Given the description of an element on the screen output the (x, y) to click on. 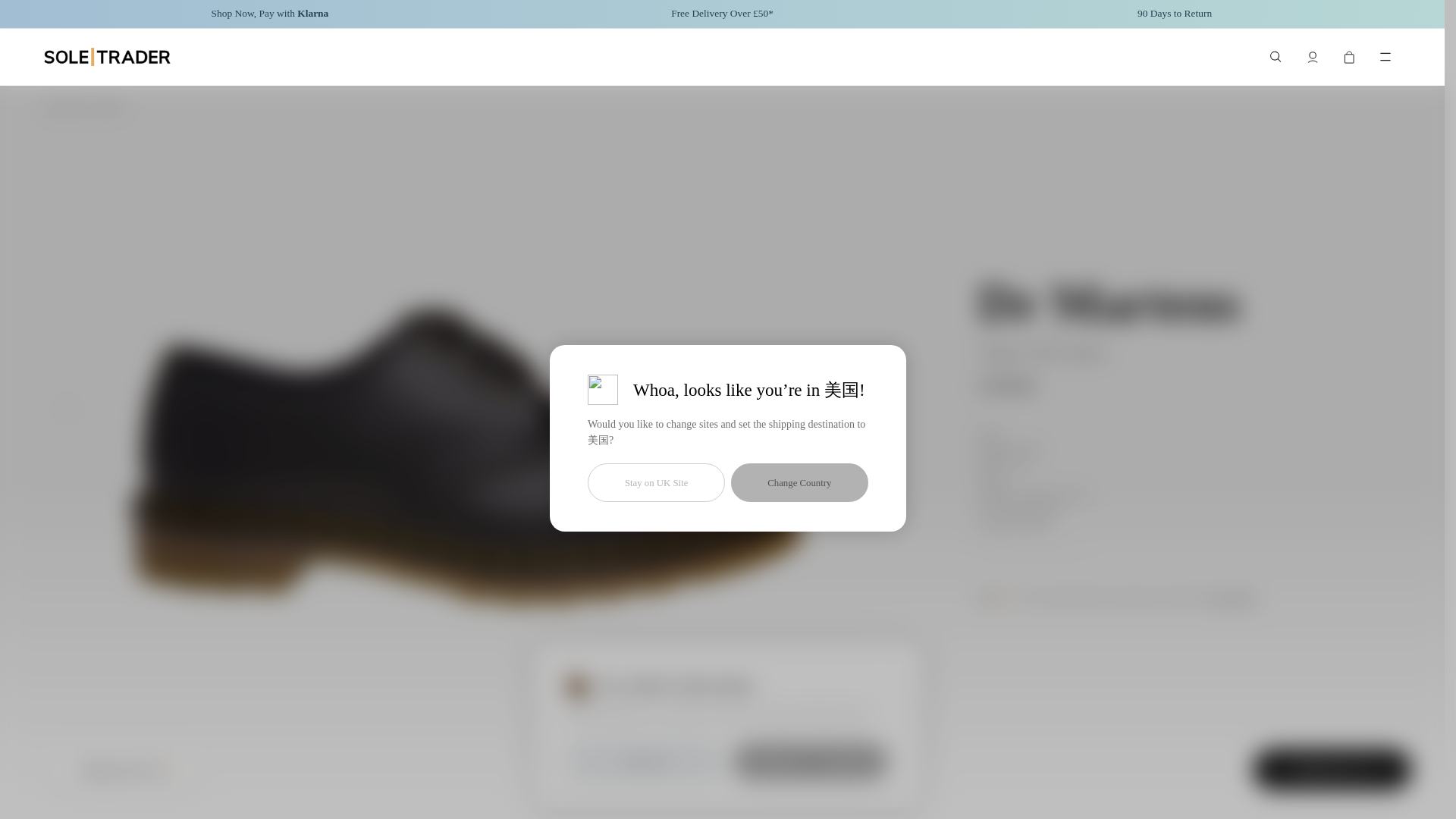
Shop Now, Pay with Klarna (270, 13)
Search (1275, 56)
Change colour (123, 769)
Menu (1385, 56)
SHOES (108, 107)
WOMENS (65, 107)
90 Days to Return (1174, 13)
Add to wishlist (665, 769)
In-store pickup (789, 769)
Dr Martens (1108, 302)
Account (1312, 56)
Your bag (1348, 56)
Learn More (1232, 597)
Select size (1332, 769)
